Given the description of an element on the screen output the (x, y) to click on. 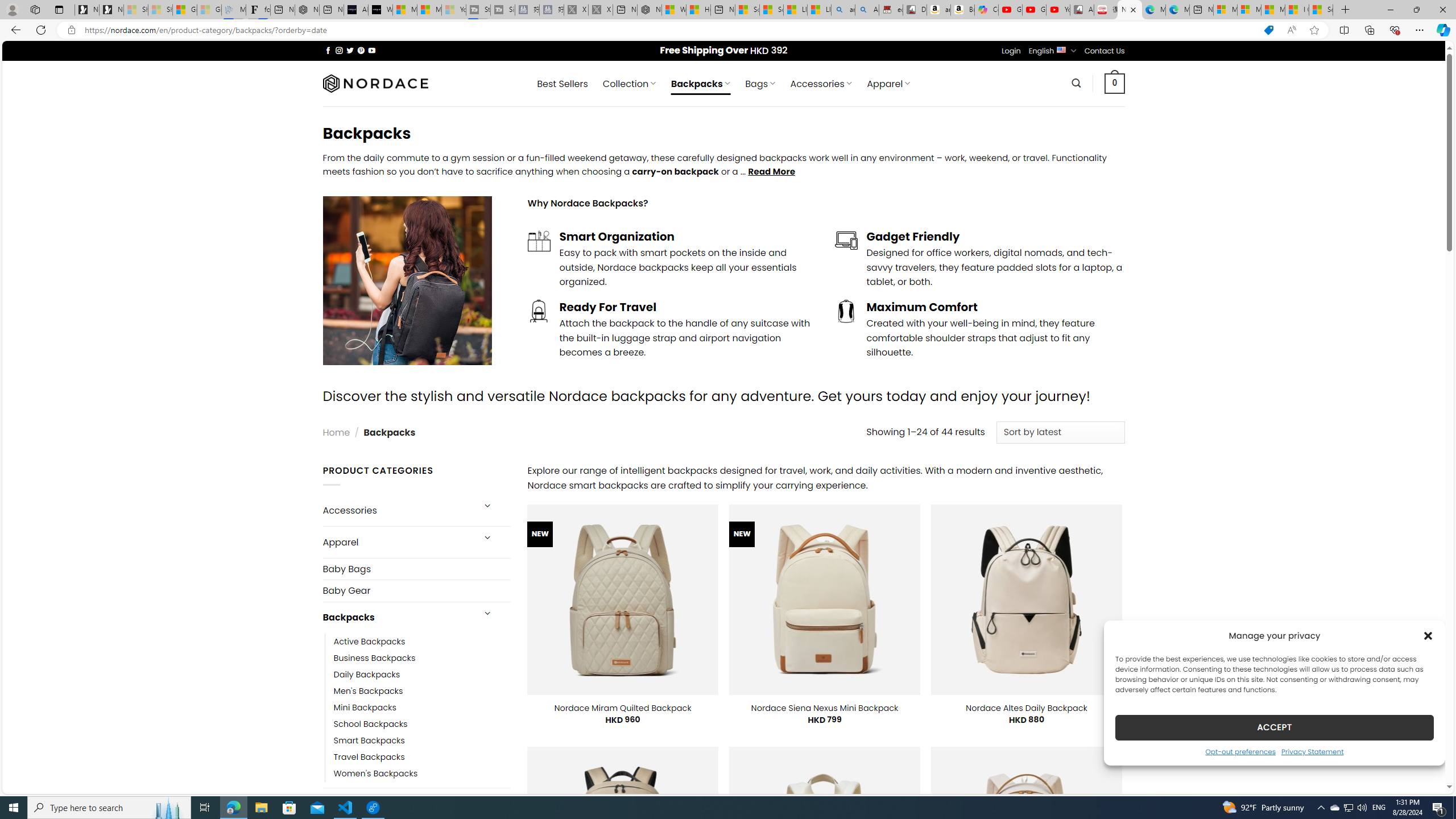
Microsoft account | Privacy (1248, 9)
 0  (1115, 83)
Accessories (397, 510)
Newsletter Sign Up (111, 9)
Smart Backpacks (422, 740)
Backpacks (397, 617)
